Given the description of an element on the screen output the (x, y) to click on. 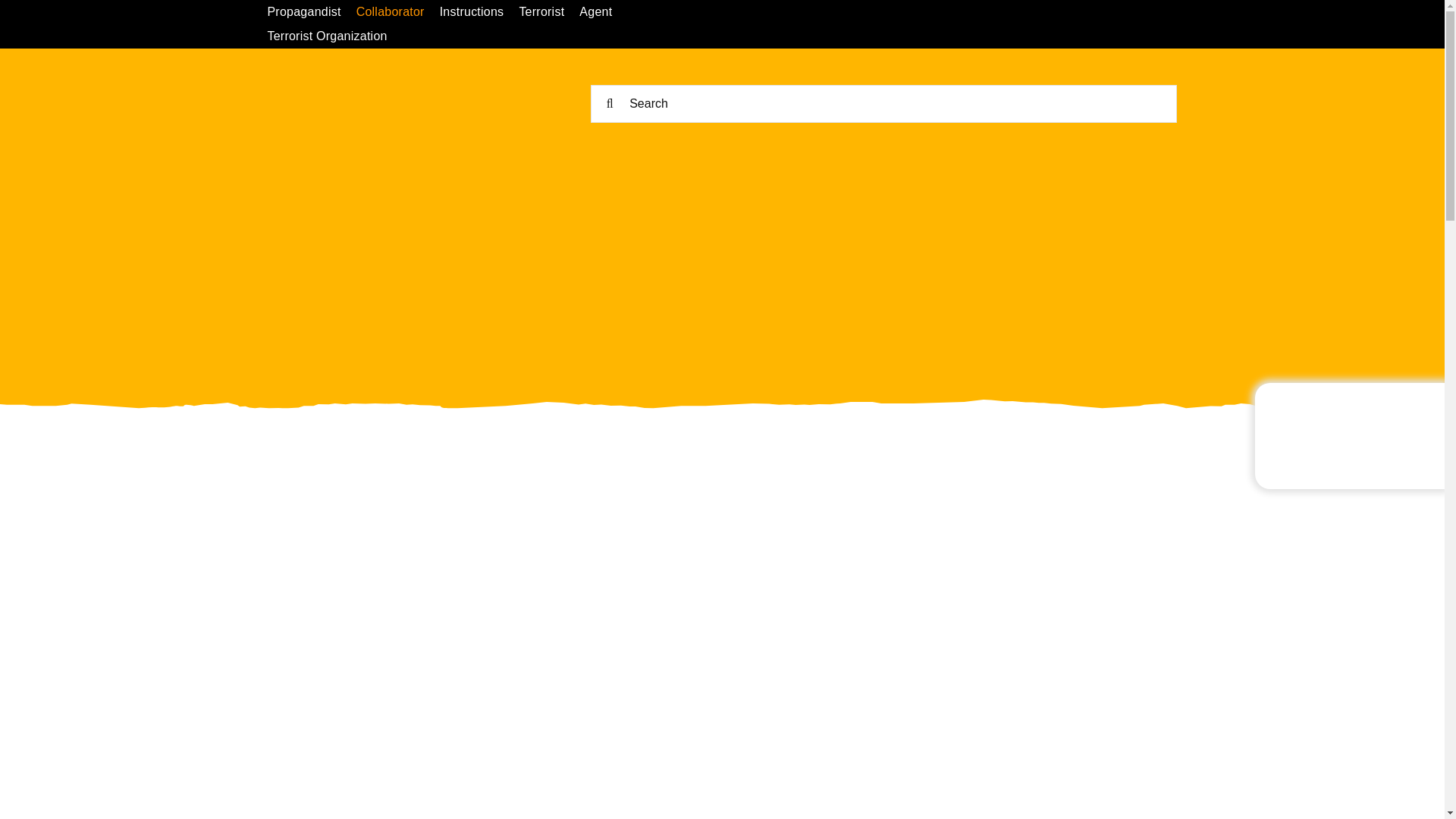
Terrorist (548, 12)
Instructions (479, 12)
Terrorist Organization (333, 36)
Agent (603, 12)
Collaborator (397, 12)
Propagandist (310, 12)
